Given the description of an element on the screen output the (x, y) to click on. 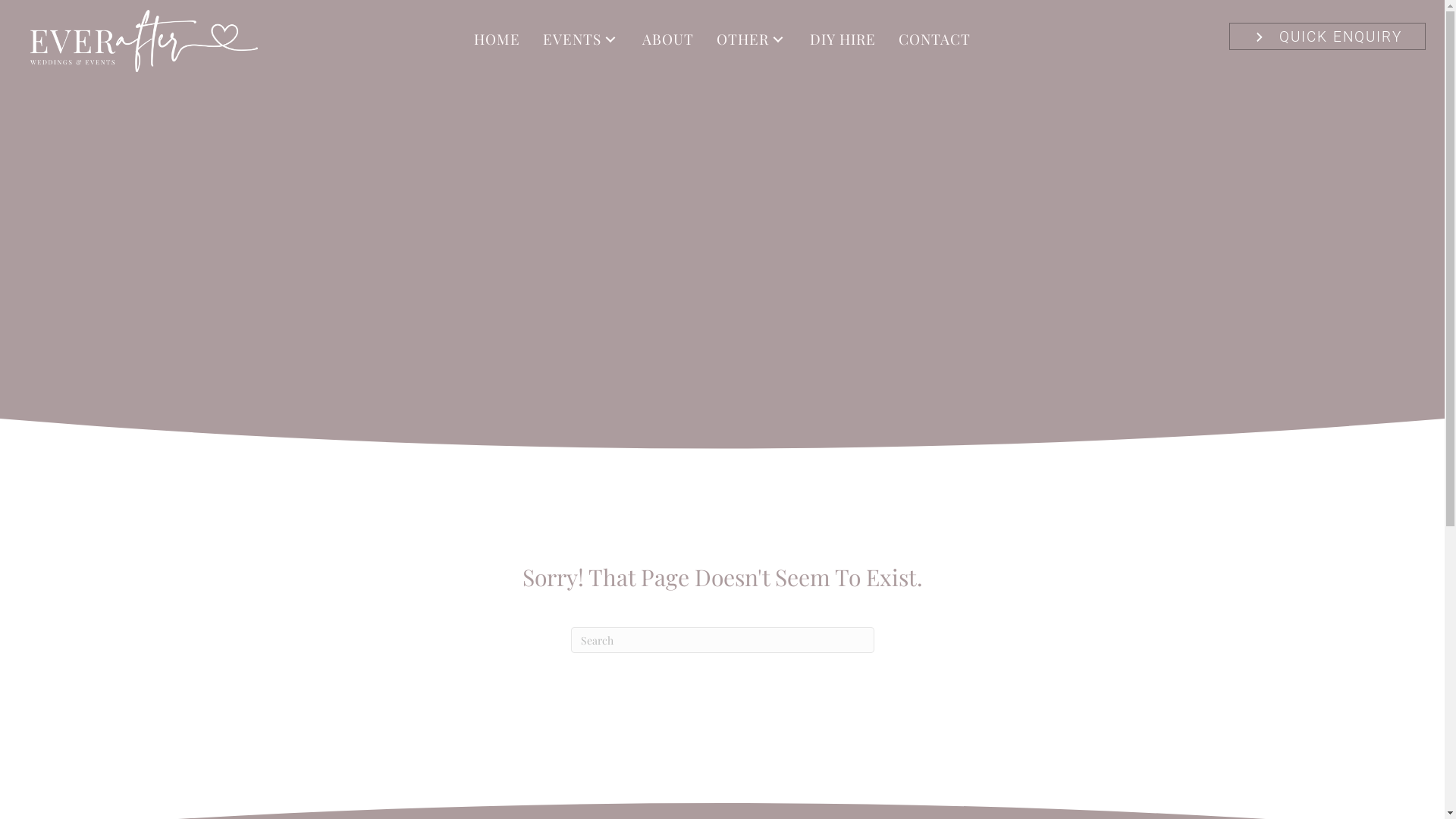
DIY HIRE Element type: text (842, 38)
OTHER Element type: text (751, 38)
EVENTS Element type: text (581, 38)
Type and press Enter to search. Element type: hover (721, 639)
White Logo Element type: hover (143, 40)
ABOUT Element type: text (667, 38)
QUICK ENQUIRY Element type: text (1327, 36)
HOME Element type: text (496, 38)
CONTACT Element type: text (934, 38)
